Given the description of an element on the screen output the (x, y) to click on. 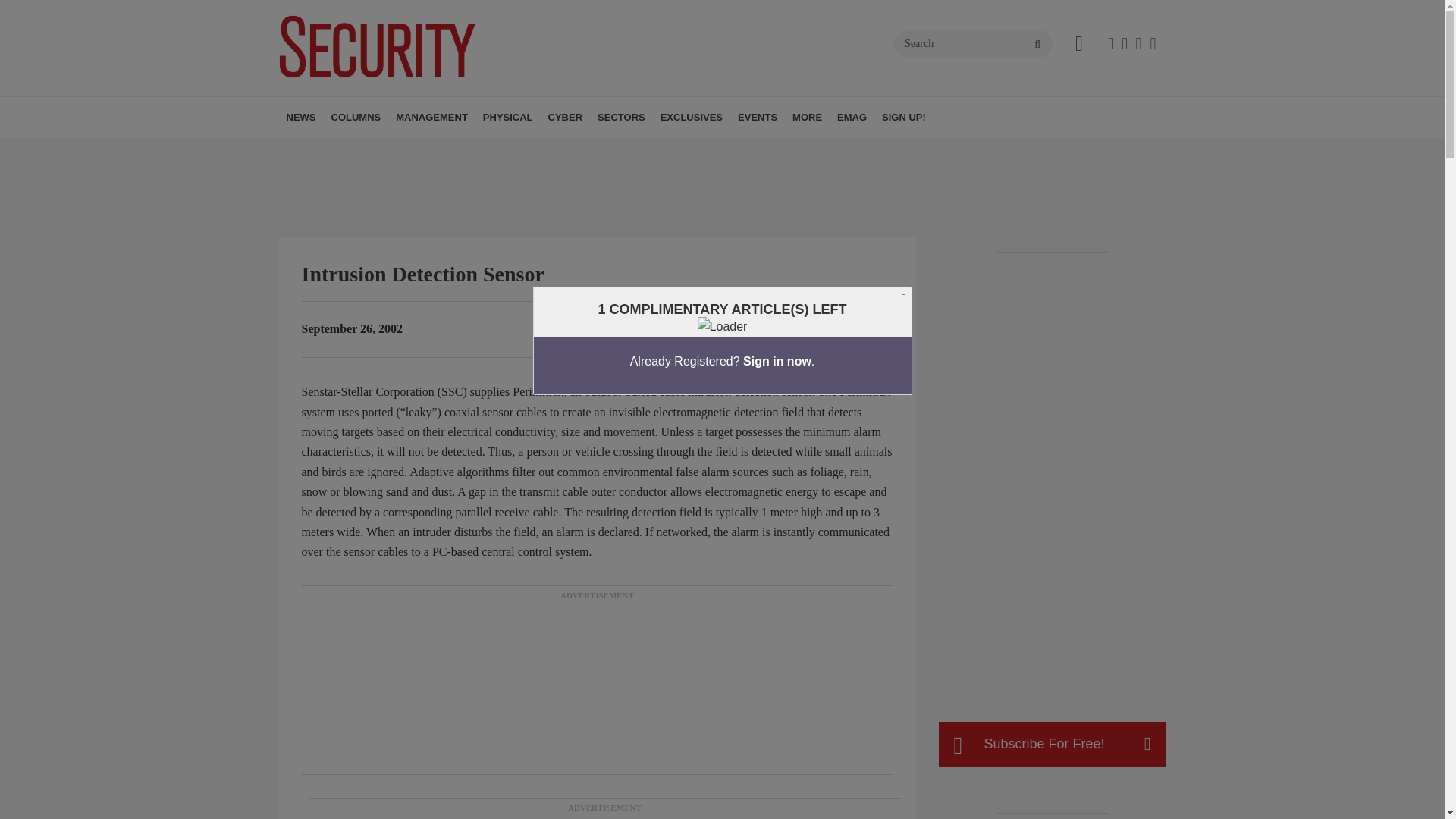
ENTERPRISE SERVICES (490, 150)
CYBERSECURITY NEWS (635, 150)
MORE (641, 150)
Search (972, 43)
SECTORS (620, 117)
CAREER INTELLIGENCE (436, 150)
PHYSICAL (508, 117)
SECURITY NEWSWIRE (373, 150)
CYBER TACTICS (417, 150)
LEADER TO LEADER (442, 150)
NEWS (301, 117)
VIDEO SURVEILLANCE (576, 150)
SECURITY TALK (430, 150)
MORE (589, 150)
CYBER (565, 117)
